Given the description of an element on the screen output the (x, y) to click on. 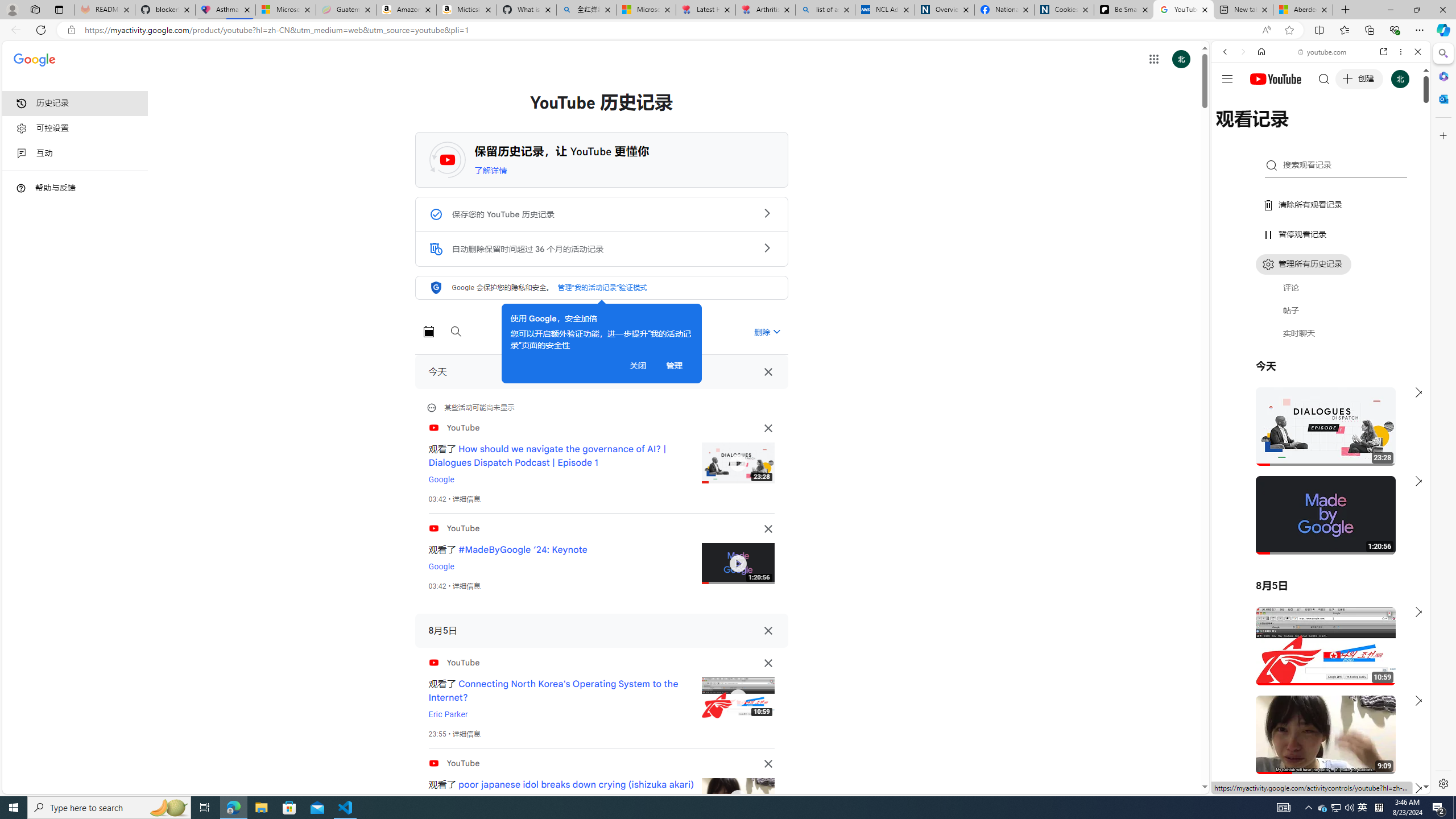
#you (1315, 659)
Class: gb_E (1153, 59)
Search Filter, VIDEOS (1300, 129)
Show More Music (1390, 310)
Trailer #2 [HD] (1320, 337)
